Given the description of an element on the screen output the (x, y) to click on. 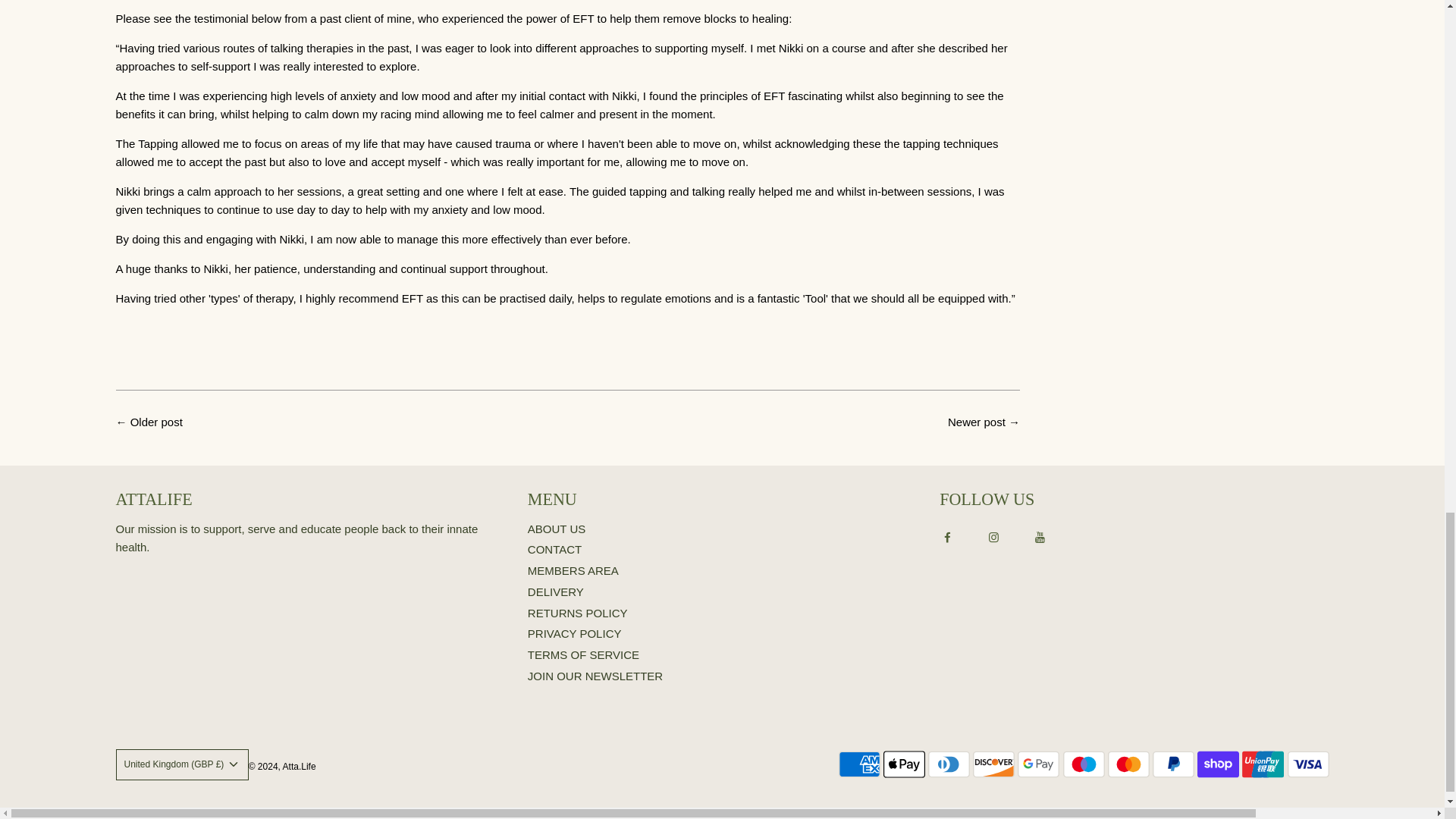
Diners Club (948, 764)
American Express (859, 764)
Union Pay (1262, 764)
Apple Pay (903, 764)
PayPal (1173, 764)
Mastercard (1129, 764)
Discover (993, 764)
Google Pay (1038, 764)
Shop Pay (1217, 764)
Maestro (1083, 764)
Visa (1308, 764)
